Given the description of an element on the screen output the (x, y) to click on. 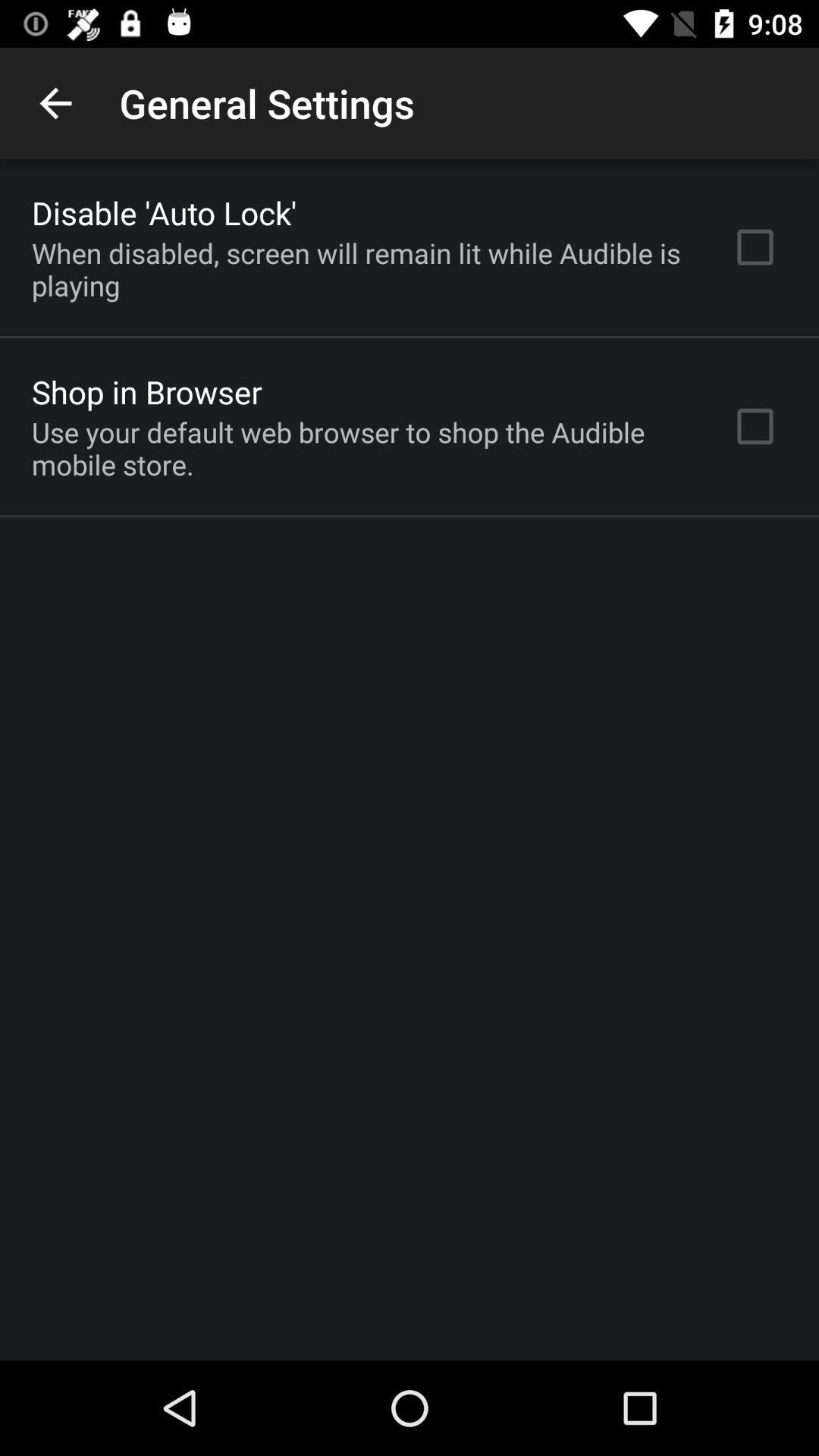
flip until the use your default (361, 448)
